Given the description of an element on the screen output the (x, y) to click on. 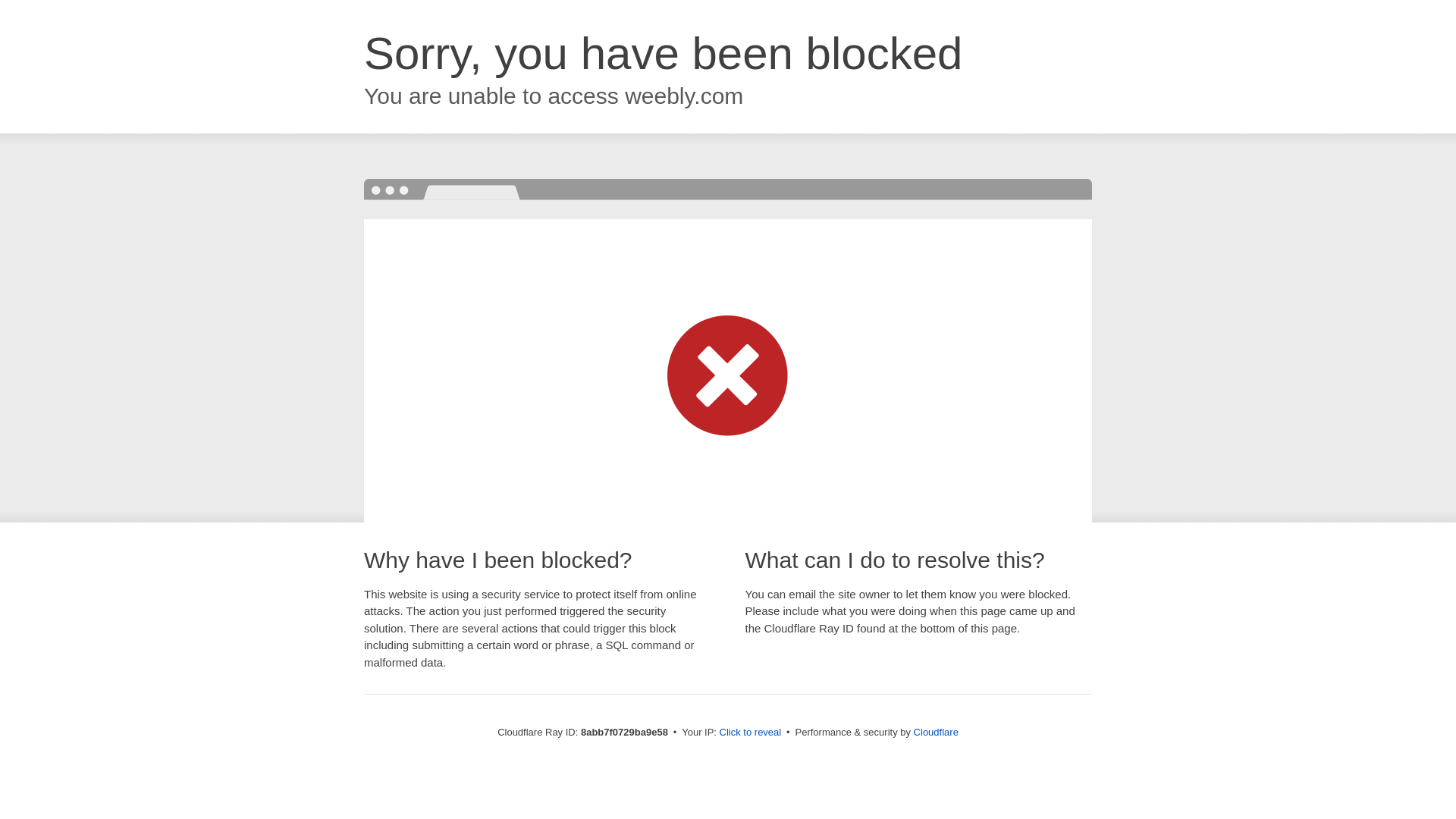
Cloudflare (936, 731)
Click to reveal (750, 732)
